Given the description of an element on the screen output the (x, y) to click on. 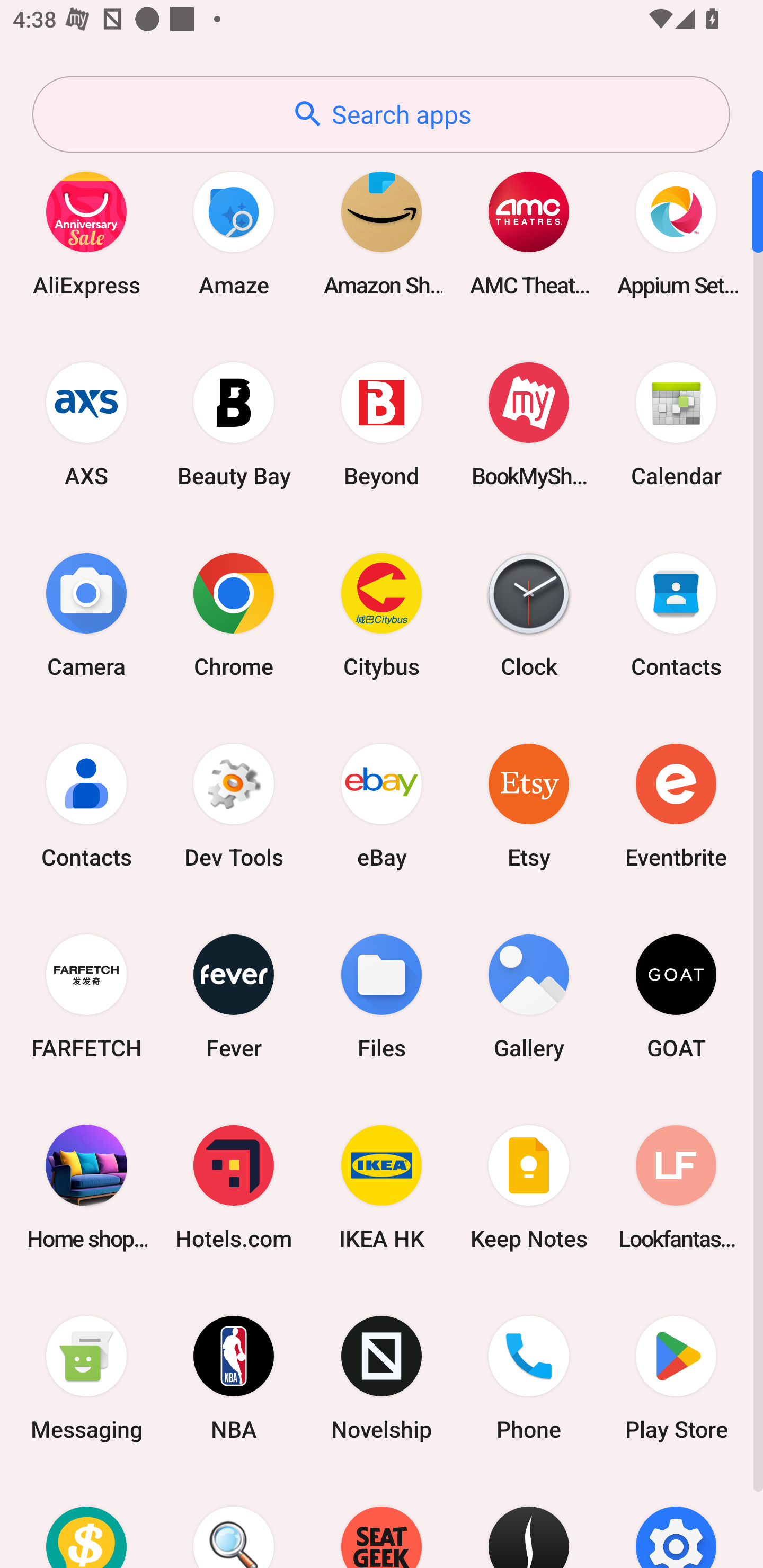
  Search apps (381, 114)
AliExpress (86, 233)
Amaze (233, 233)
Amazon Shopping (381, 233)
AMC Theatres (528, 233)
Appium Settings (676, 233)
AXS (86, 424)
Beauty Bay (233, 424)
Beyond (381, 424)
BookMyShow (528, 424)
Calendar (676, 424)
Camera (86, 614)
Chrome (233, 614)
Citybus (381, 614)
Clock (528, 614)
Contacts (676, 614)
Contacts (86, 805)
Dev Tools (233, 805)
eBay (381, 805)
Etsy (528, 805)
Eventbrite (676, 805)
FARFETCH (86, 996)
Fever (233, 996)
Files (381, 996)
Gallery (528, 996)
GOAT (676, 996)
Home shopping (86, 1186)
Hotels.com (233, 1186)
IKEA HK (381, 1186)
Keep Notes (528, 1186)
Lookfantastic (676, 1186)
Messaging (86, 1377)
NBA (233, 1377)
Novelship (381, 1377)
Phone (528, 1377)
Play Store (676, 1377)
Price (86, 1520)
Search (233, 1520)
SeatGeek (381, 1520)
Sephora (528, 1520)
Settings (676, 1520)
